Given the description of an element on the screen output the (x, y) to click on. 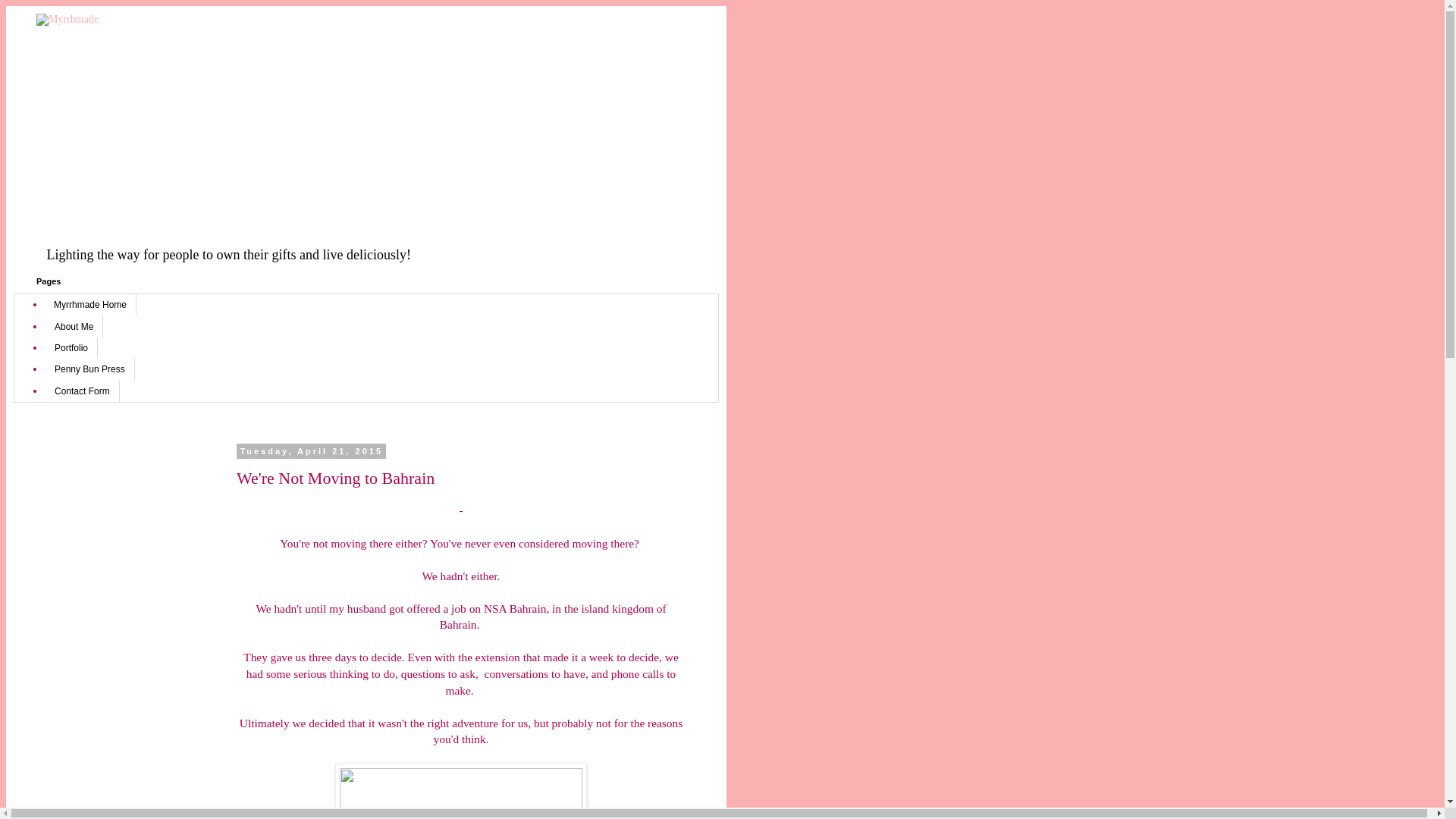
About Me (74, 325)
Portfolio (71, 347)
Myrrhmade Home (90, 304)
Penny Bun Press (90, 369)
Contact Form (82, 391)
